Given the description of an element on the screen output the (x, y) to click on. 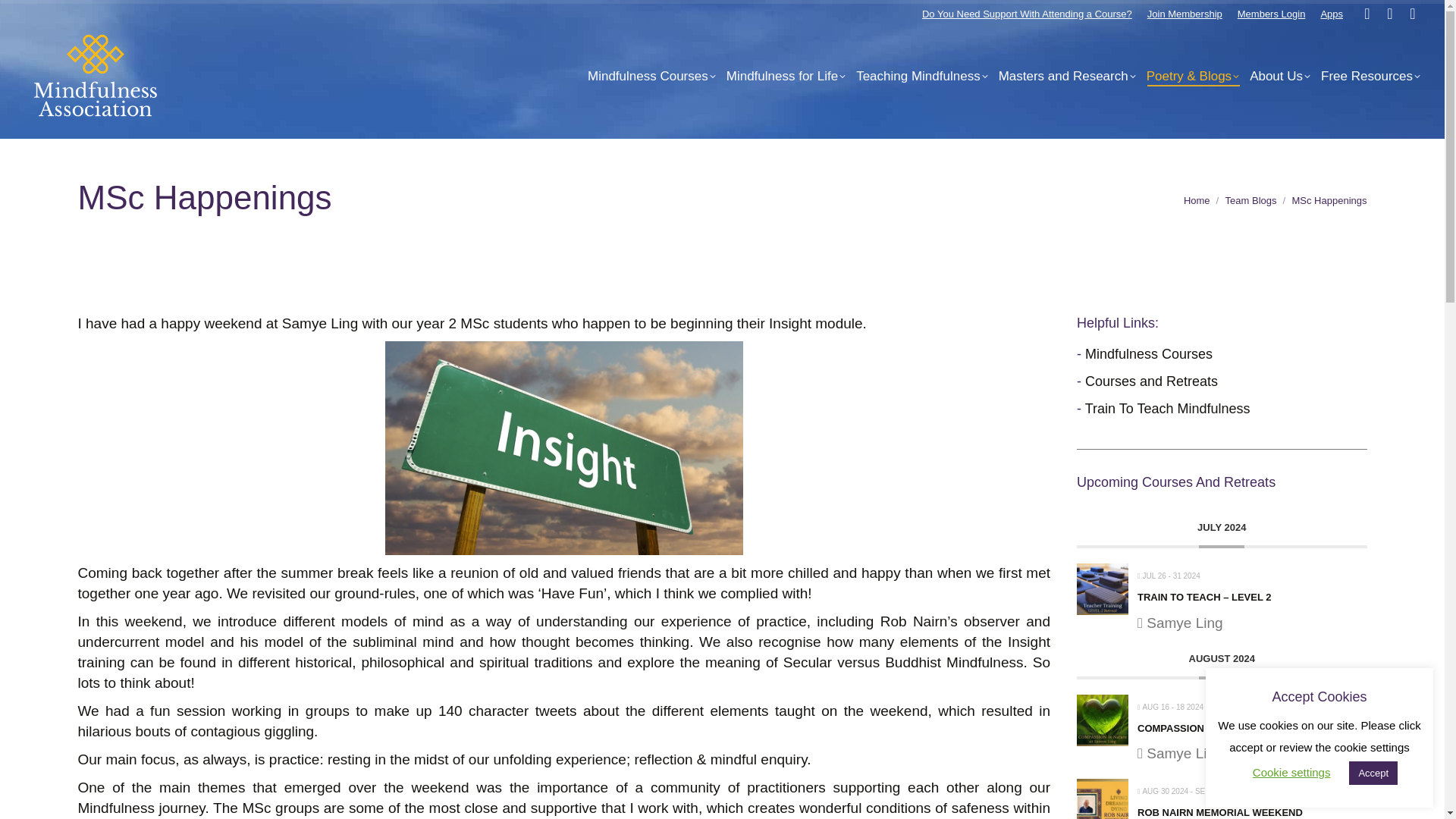
Team Blogs (1250, 200)
Members Login (1271, 12)
Home (1196, 200)
Instagram page opens in new window (1412, 13)
Join Membership (1185, 12)
Facebook page opens in new window (1366, 13)
Instagram page opens in new window (1412, 13)
Facebook page opens in new window (1366, 13)
Mindfulness for Life (786, 76)
Apps (1331, 12)
Do You Need Support With Attending a Course? (1026, 12)
X page opens in new window (1389, 13)
Mindfulness Courses (651, 76)
X page opens in new window (1389, 13)
